Given the description of an element on the screen output the (x, y) to click on. 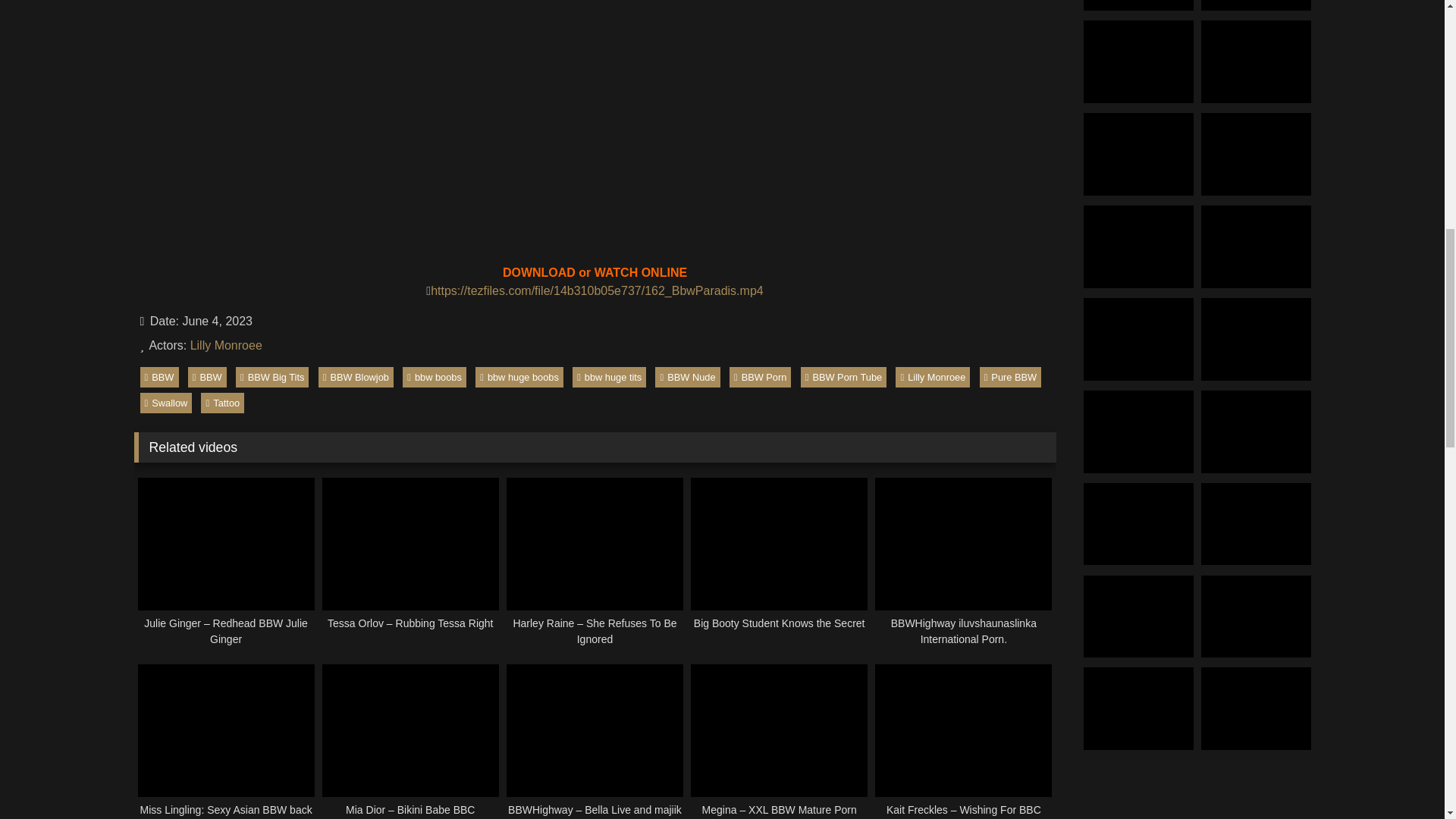
BBW Porn Tube (843, 376)
Lilly Monroee (226, 345)
bbw huge tits (609, 376)
BBW Blowjob (355, 376)
BBWHighway iluvshaunaslinka International Porn. (963, 562)
BBW (158, 376)
bbw boobs (434, 376)
BBW Big Tits (271, 376)
bbw huge tits (609, 376)
Lilly Monroee (932, 376)
BBW Porn (760, 376)
Pure BBW (1010, 376)
bbw boobs (434, 376)
BBW (158, 376)
BBW Nude (687, 376)
